Given the description of an element on the screen output the (x, y) to click on. 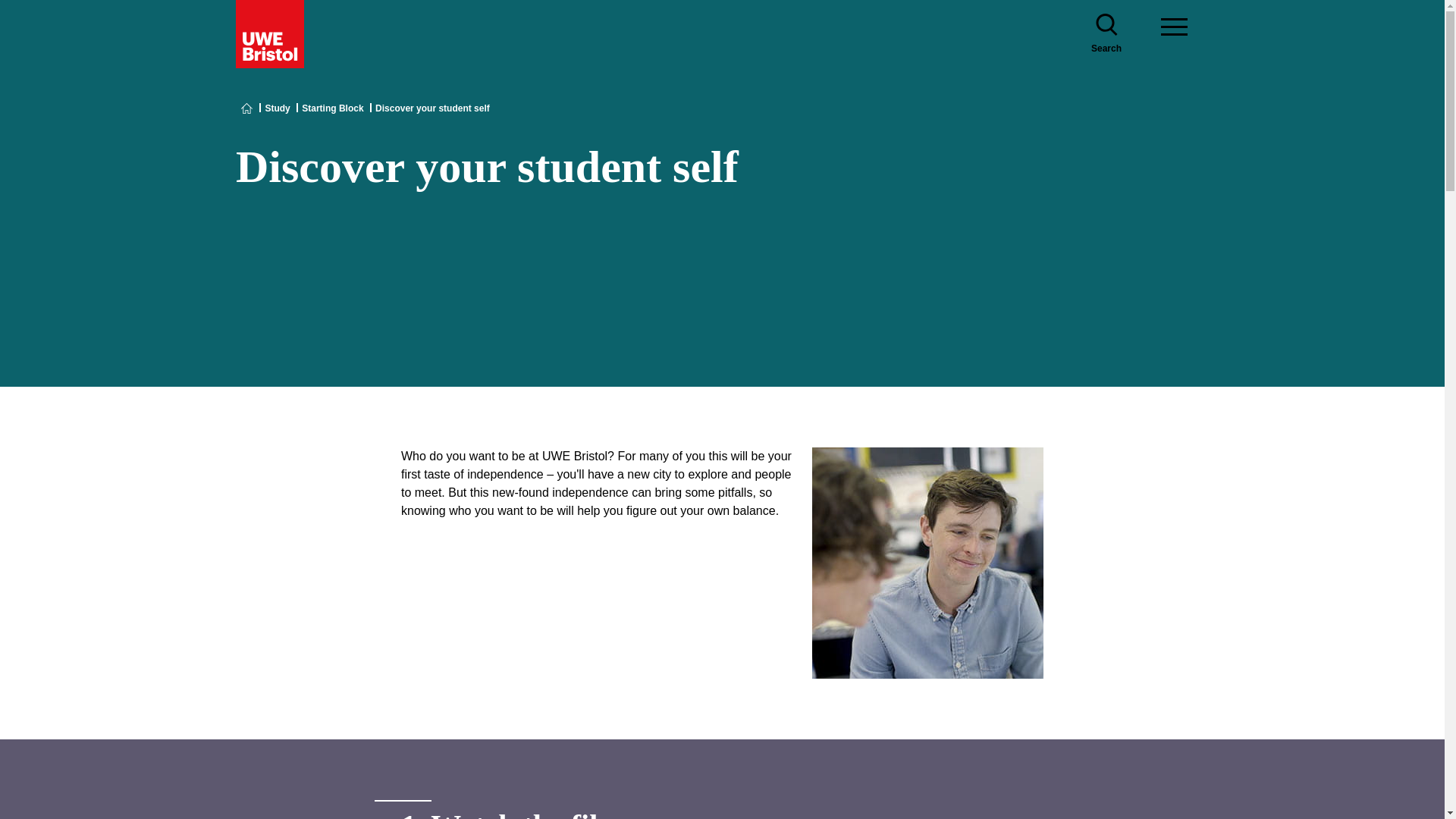
Home (247, 108)
Menu (1174, 33)
Search (1105, 33)
